Given the description of an element on the screen output the (x, y) to click on. 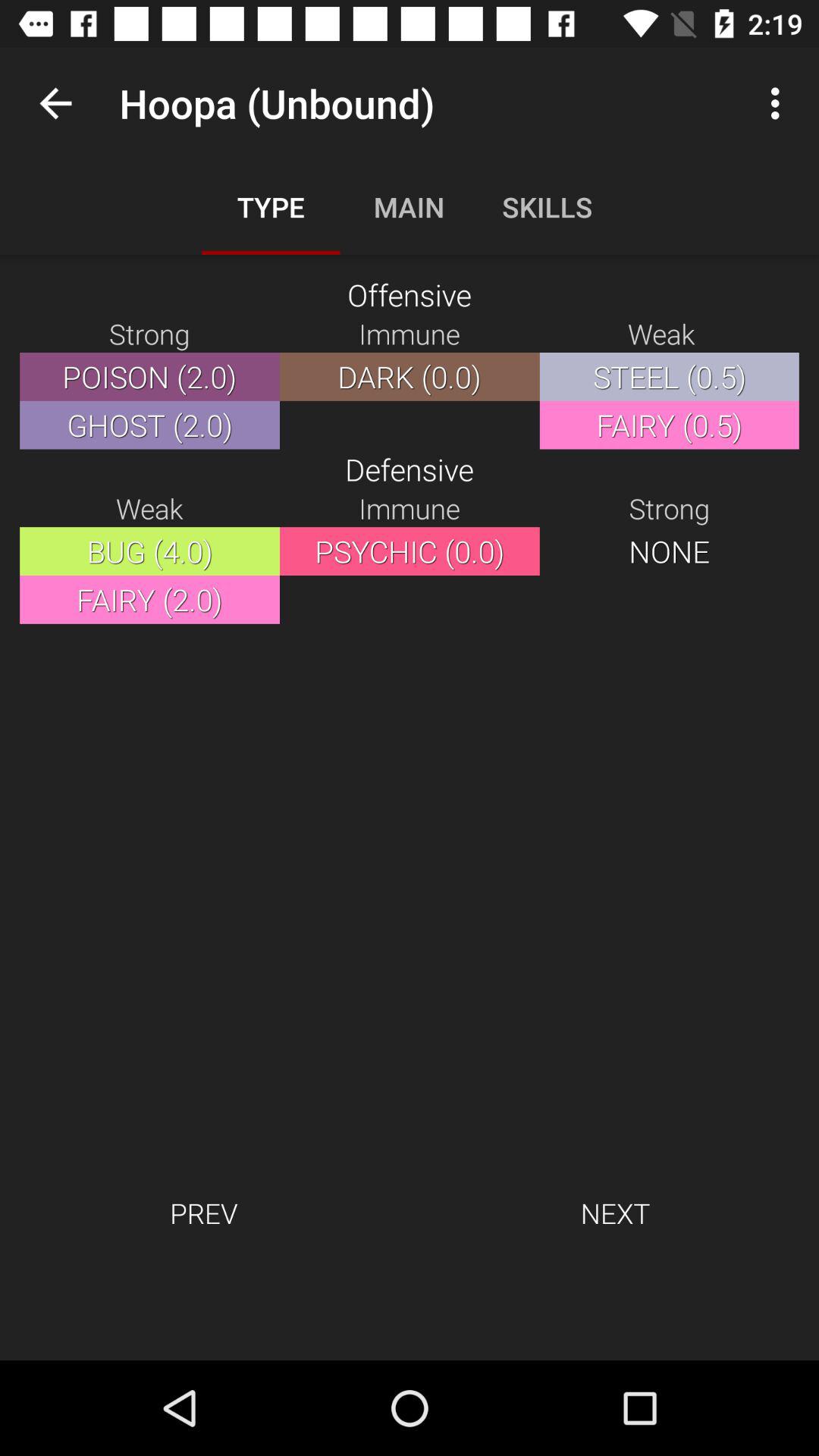
tap item at the bottom left corner (203, 1212)
